Given the description of an element on the screen output the (x, y) to click on. 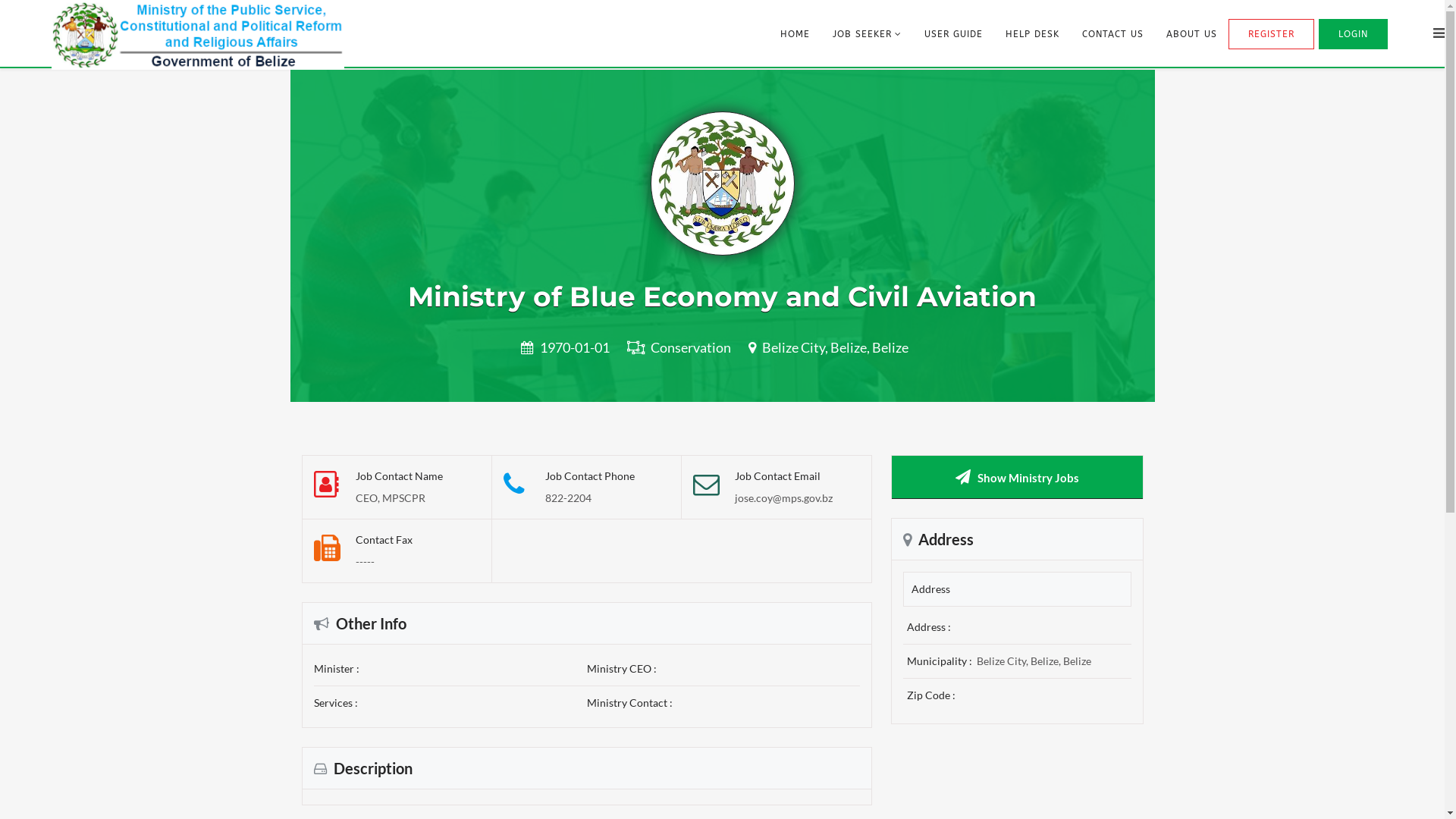
Show Ministry Jobs Element type: text (1027, 477)
HELP DESK Element type: text (1032, 34)
ABOUT US Element type: text (1191, 34)
HOME Element type: text (794, 34)
LOGIN Element type: text (1352, 33)
CONTACT US Element type: text (1112, 34)
USER GUIDE Element type: text (953, 34)
JOB SEEKER Element type: text (867, 34)
REGISTER Element type: text (1271, 33)
